Given the description of an element on the screen output the (x, y) to click on. 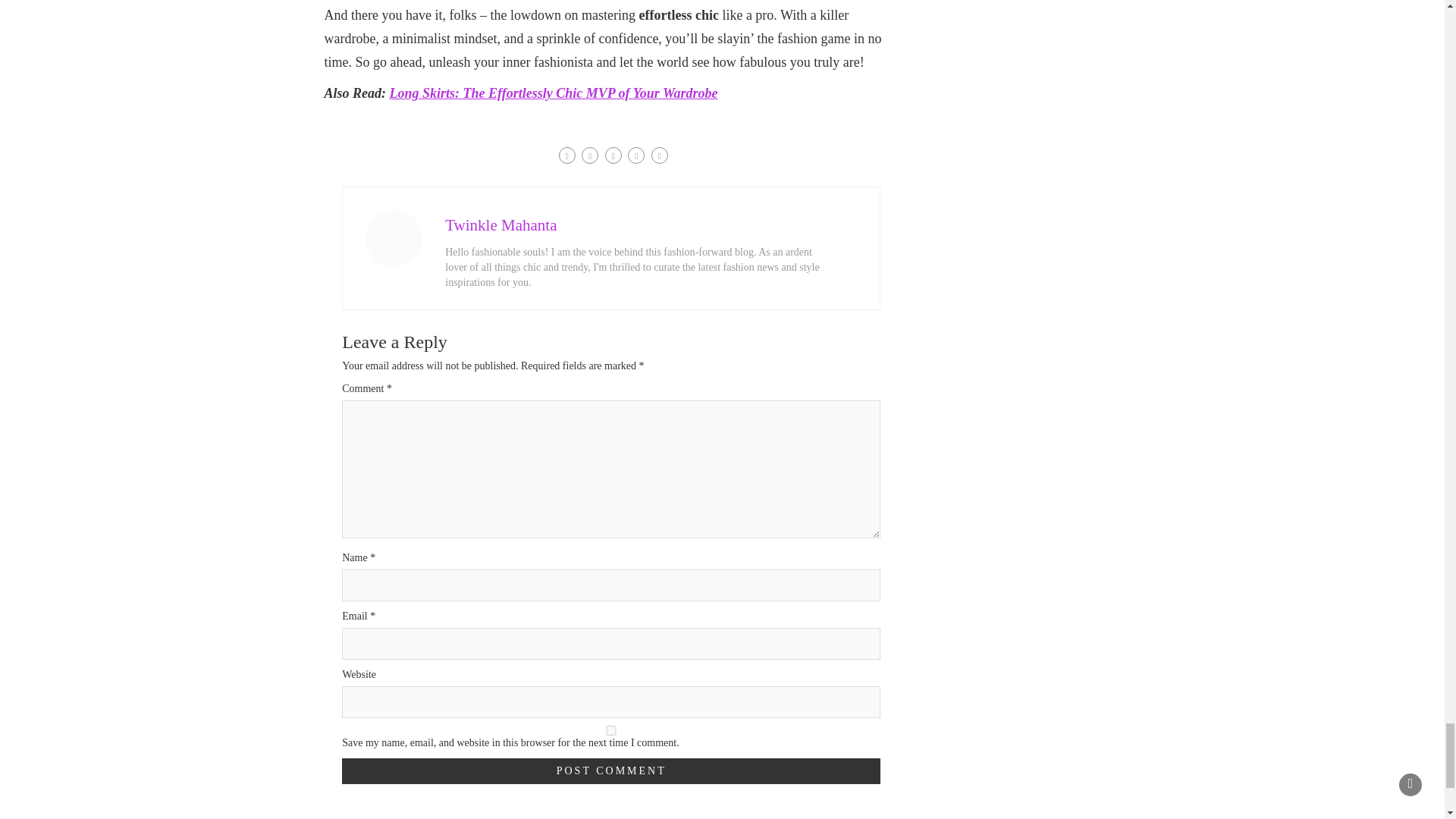
yes (611, 730)
Post Comment (611, 770)
Long Skirts: The Effortlessly Chic MVP of Your Wardrobe (553, 92)
